Given the description of an element on the screen output the (x, y) to click on. 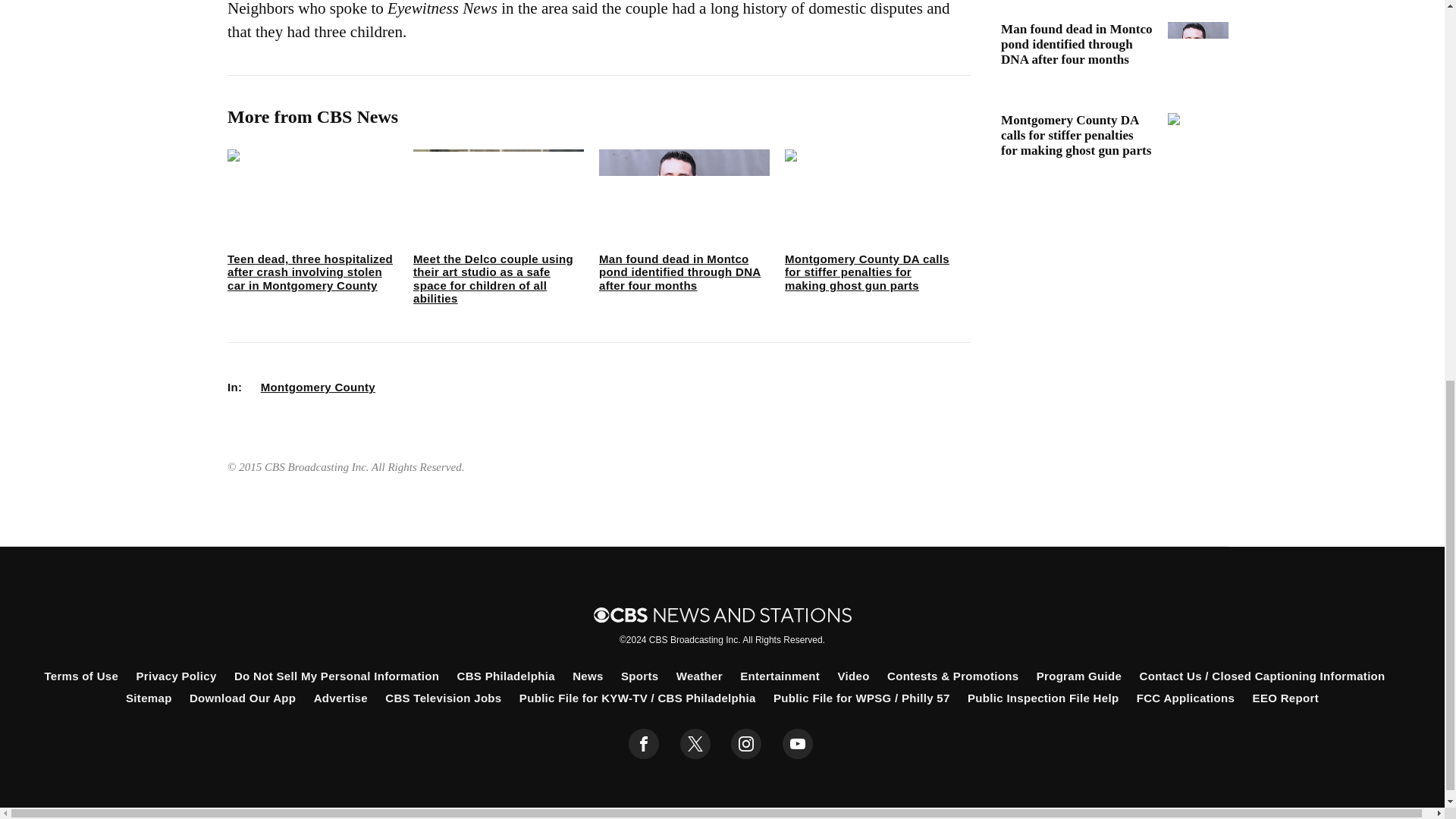
instagram (745, 743)
twitter (694, 743)
facebook (643, 743)
youtube (797, 743)
